Given the description of an element on the screen output the (x, y) to click on. 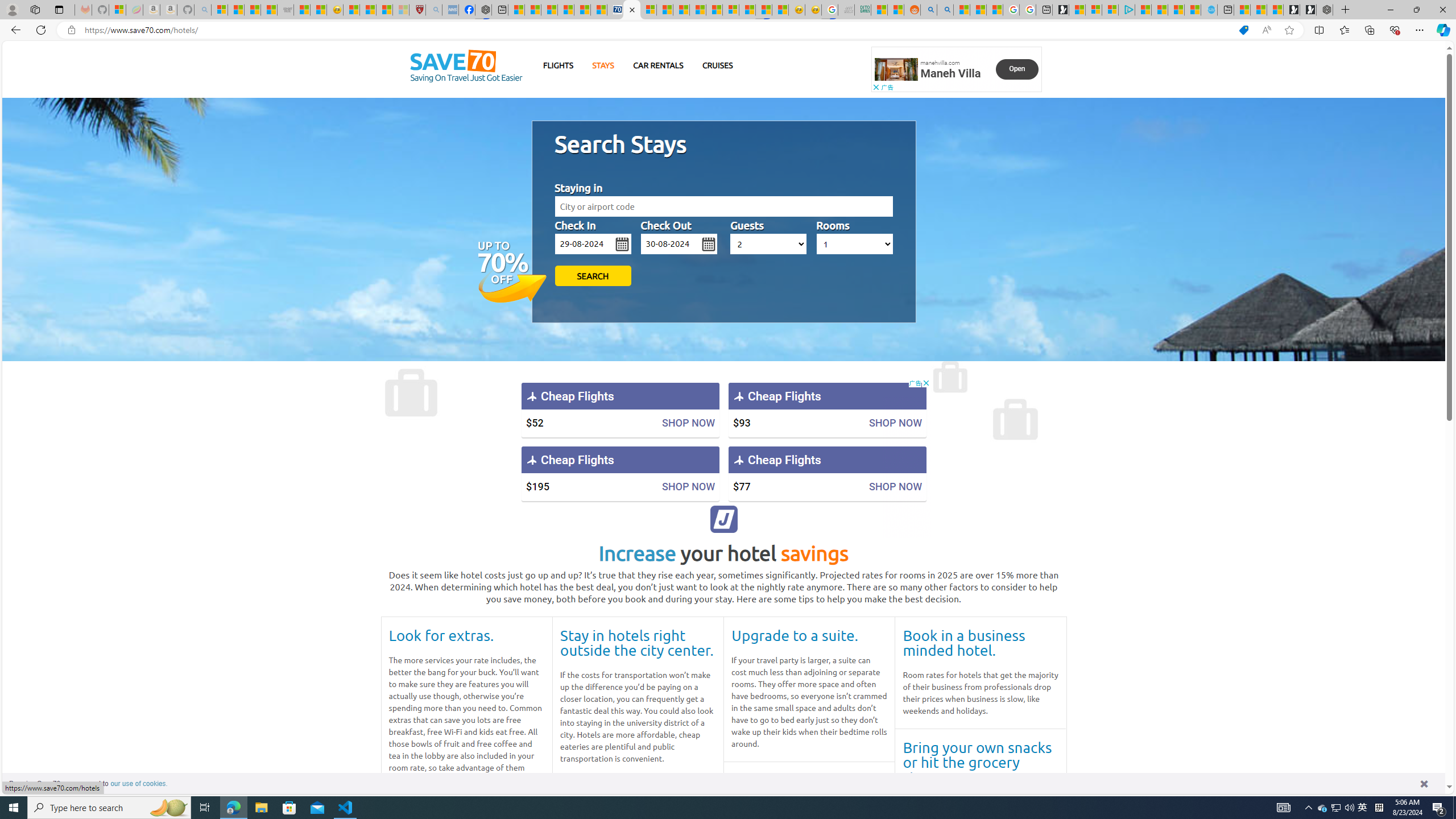
FLIGHTS (558, 65)
Cheap Flights $77 SHOP NOW (827, 473)
Maneh Villa (950, 73)
